Given the description of an element on the screen output the (x, y) to click on. 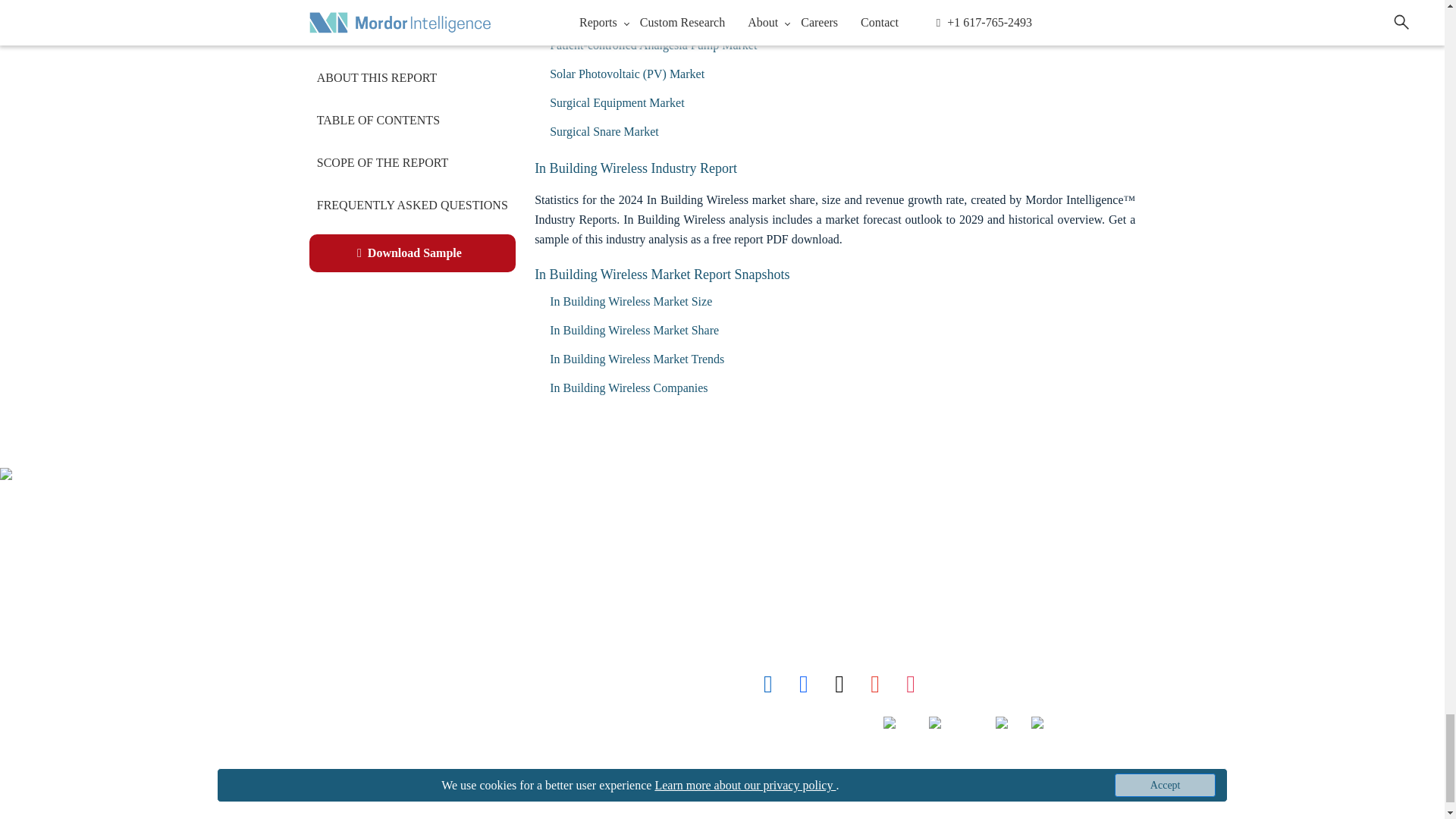
Explore more (351, 623)
Visit our homepage (323, 522)
Learn about our privacy policy (344, 723)
Learn more about us (332, 590)
View our HTML sitemap (330, 789)
See who we've worked with (336, 656)
View our industry reports (327, 556)
View our XML sitemap (322, 757)
